Given the description of an element on the screen output the (x, y) to click on. 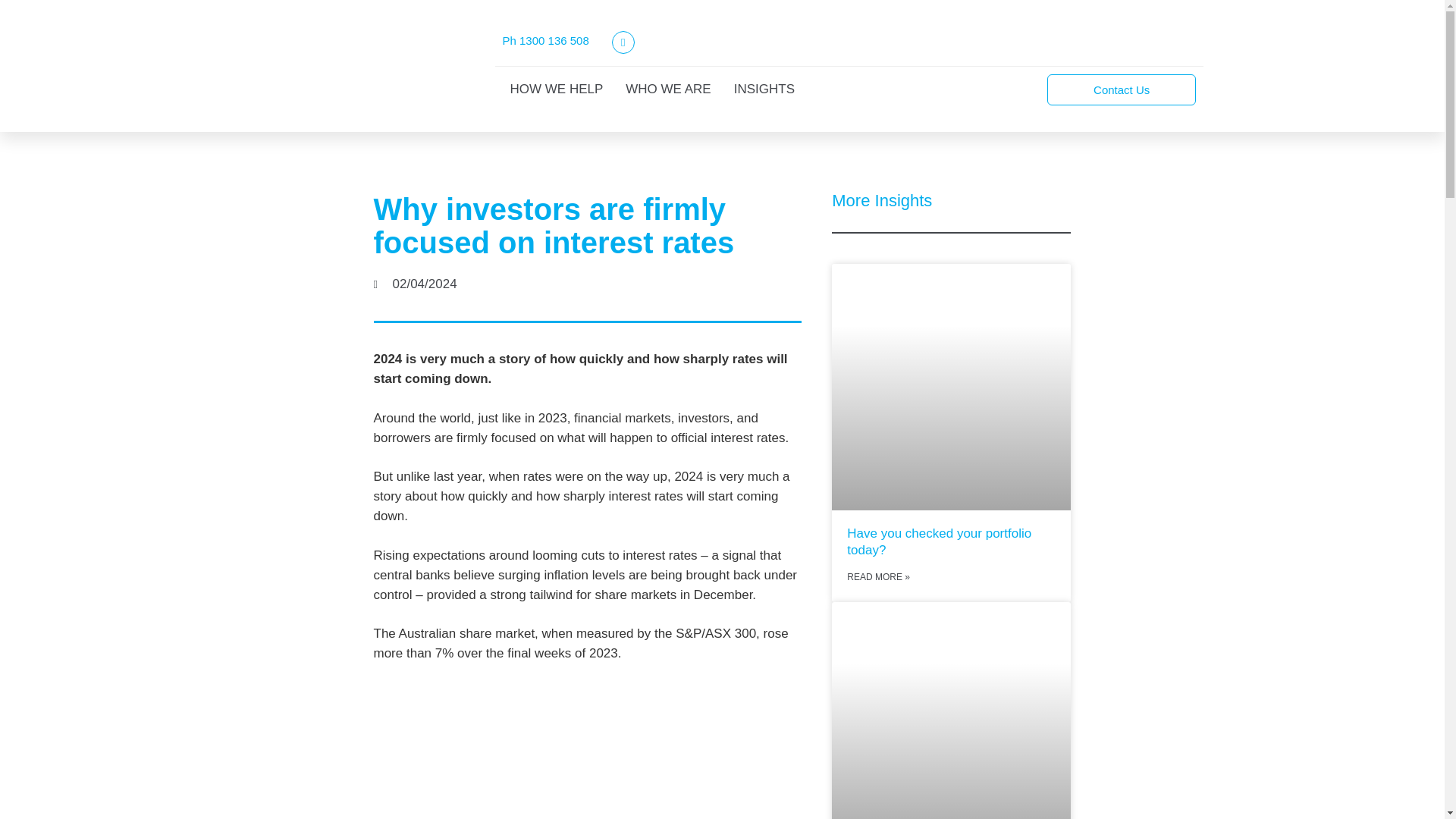
INSIGHTS (764, 89)
Ph 1300 136 508 (545, 40)
HOW WE HELP (556, 89)
Contact Us (1120, 89)
WHO WE ARE (667, 89)
Have you checked your portfolio today? (938, 541)
